Given the description of an element on the screen output the (x, y) to click on. 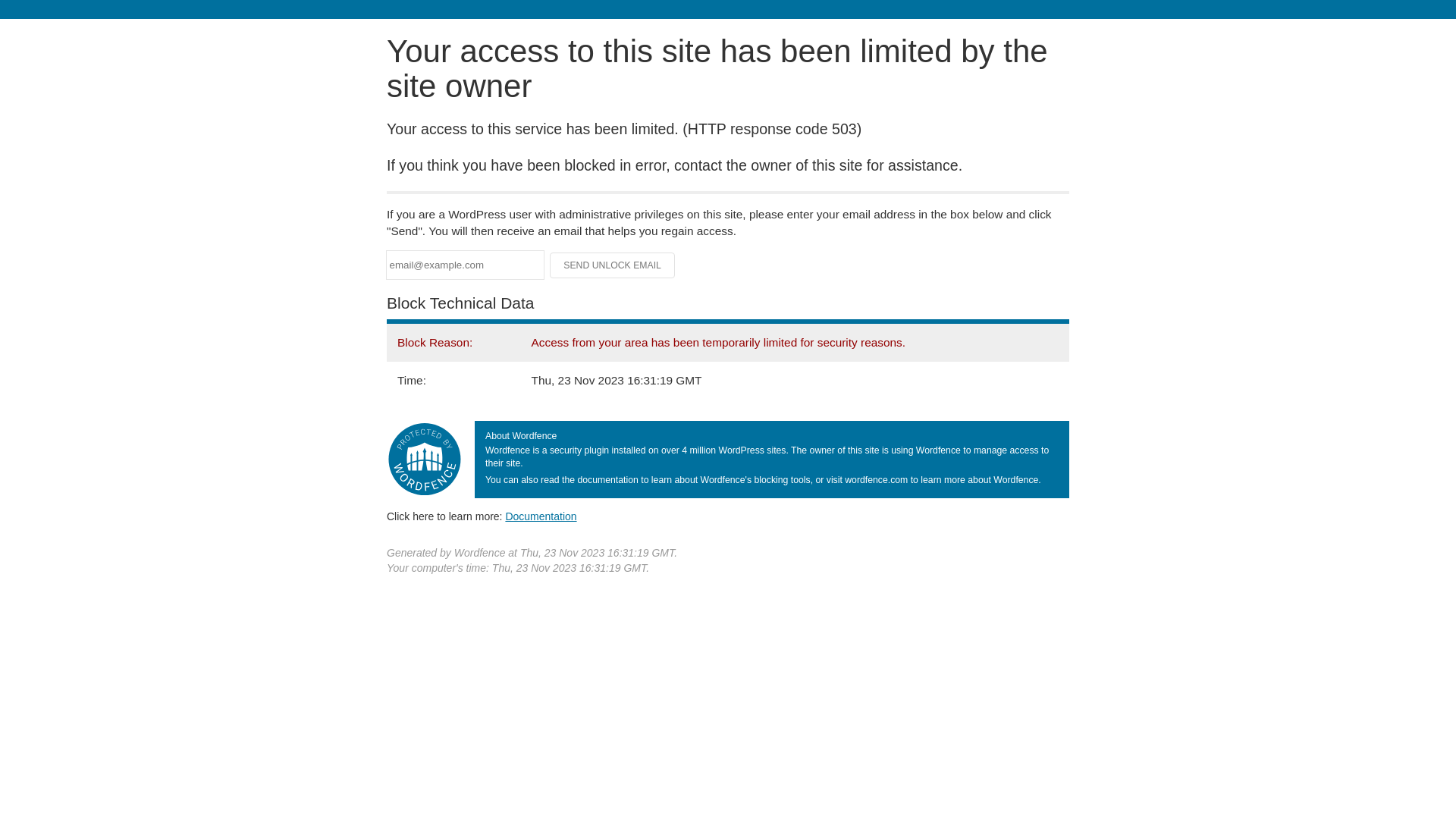
Send Unlock Email Element type: text (612, 265)
Documentation Element type: text (540, 516)
